Given the description of an element on the screen output the (x, y) to click on. 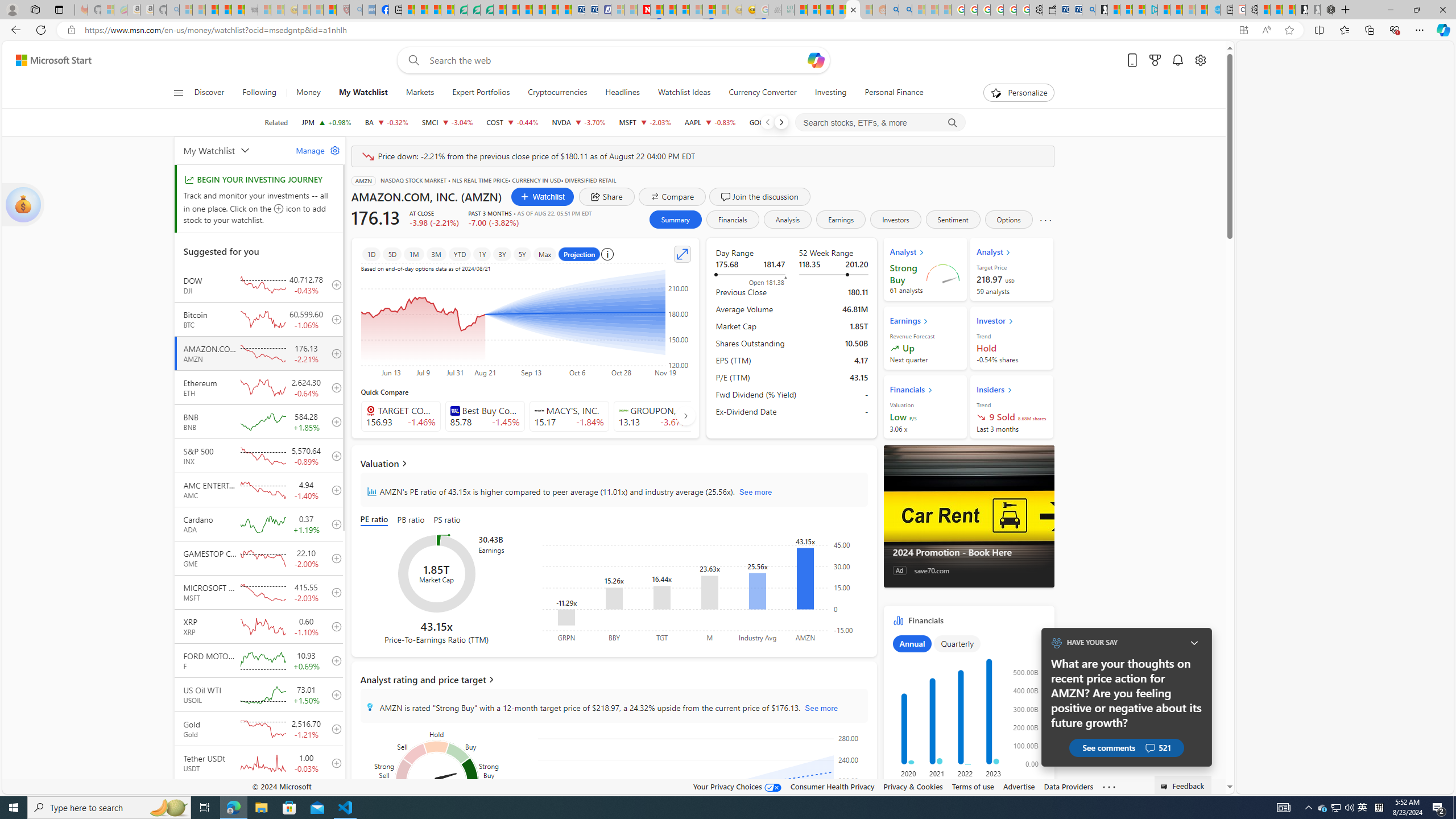
Investing (830, 92)
Class: chartOuter-DS-EntryPoint1-1 (966, 713)
